Given the description of an element on the screen output the (x, y) to click on. 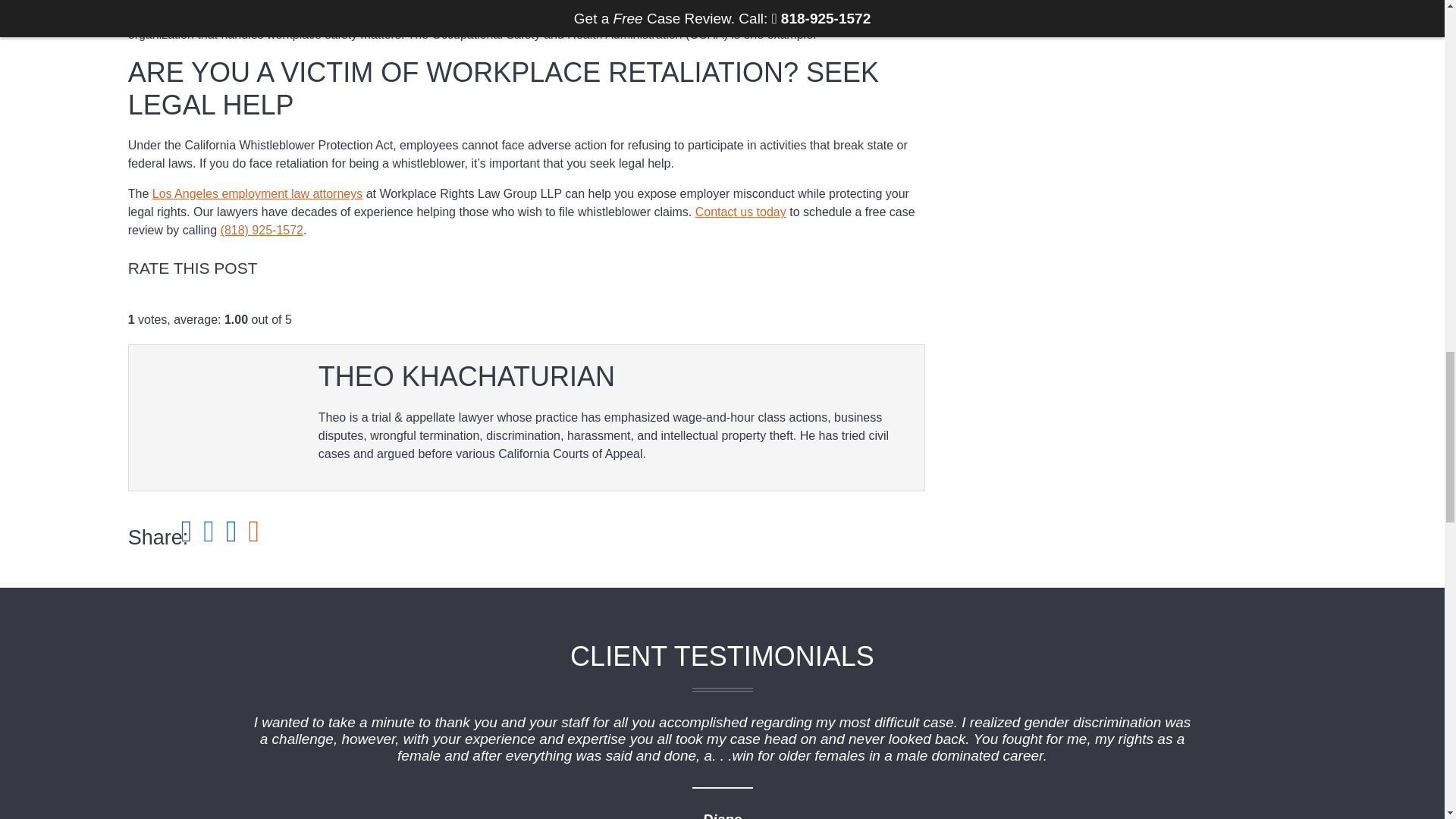
4 Stars (170, 302)
2 Stars (145, 302)
5 Stars (182, 302)
1 Star (133, 302)
3 Stars (158, 302)
